Given the description of an element on the screen output the (x, y) to click on. 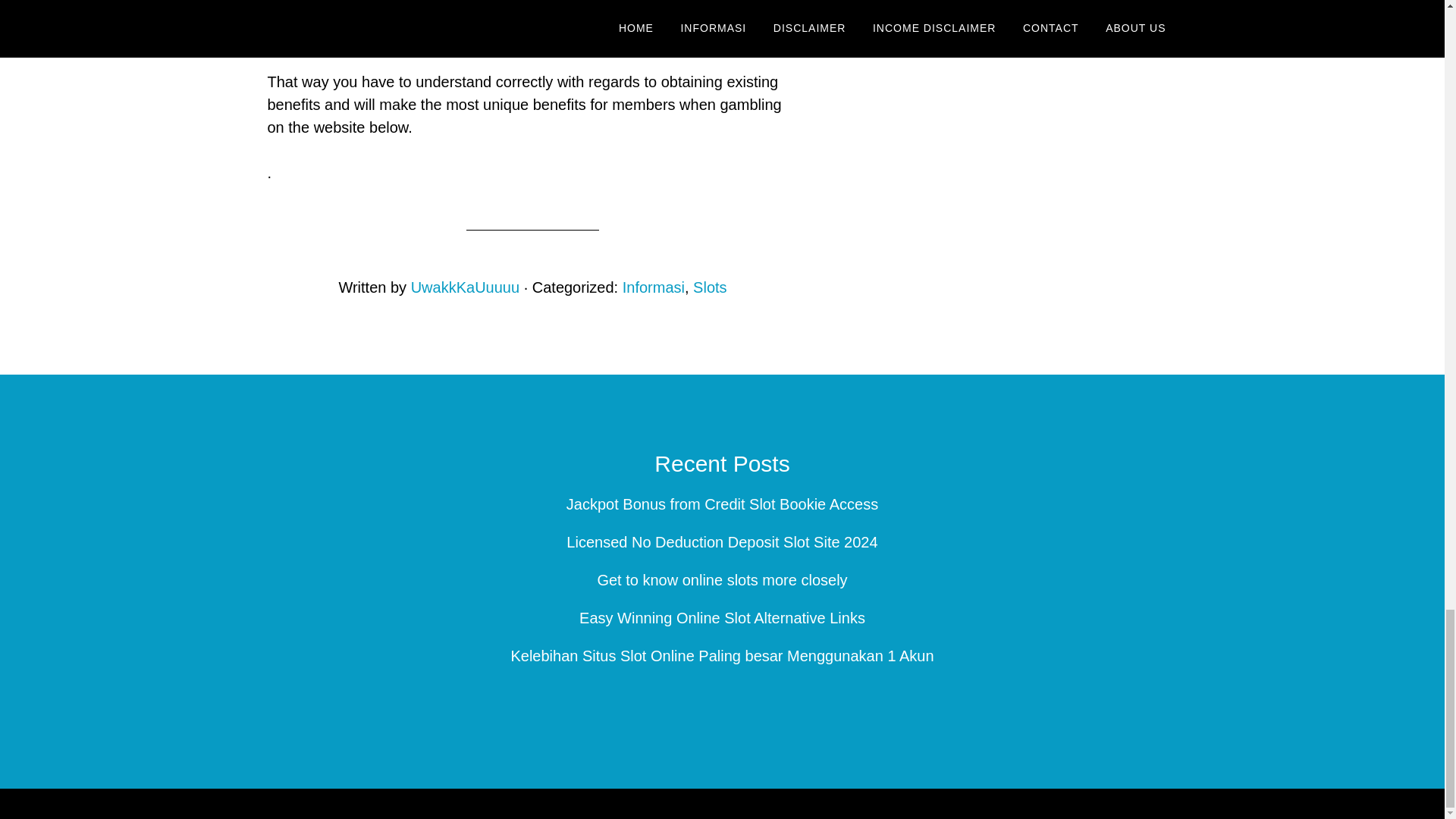
Informasi (653, 287)
Slots (709, 287)
UwakkKaUuuuu (464, 287)
